Given the description of an element on the screen output the (x, y) to click on. 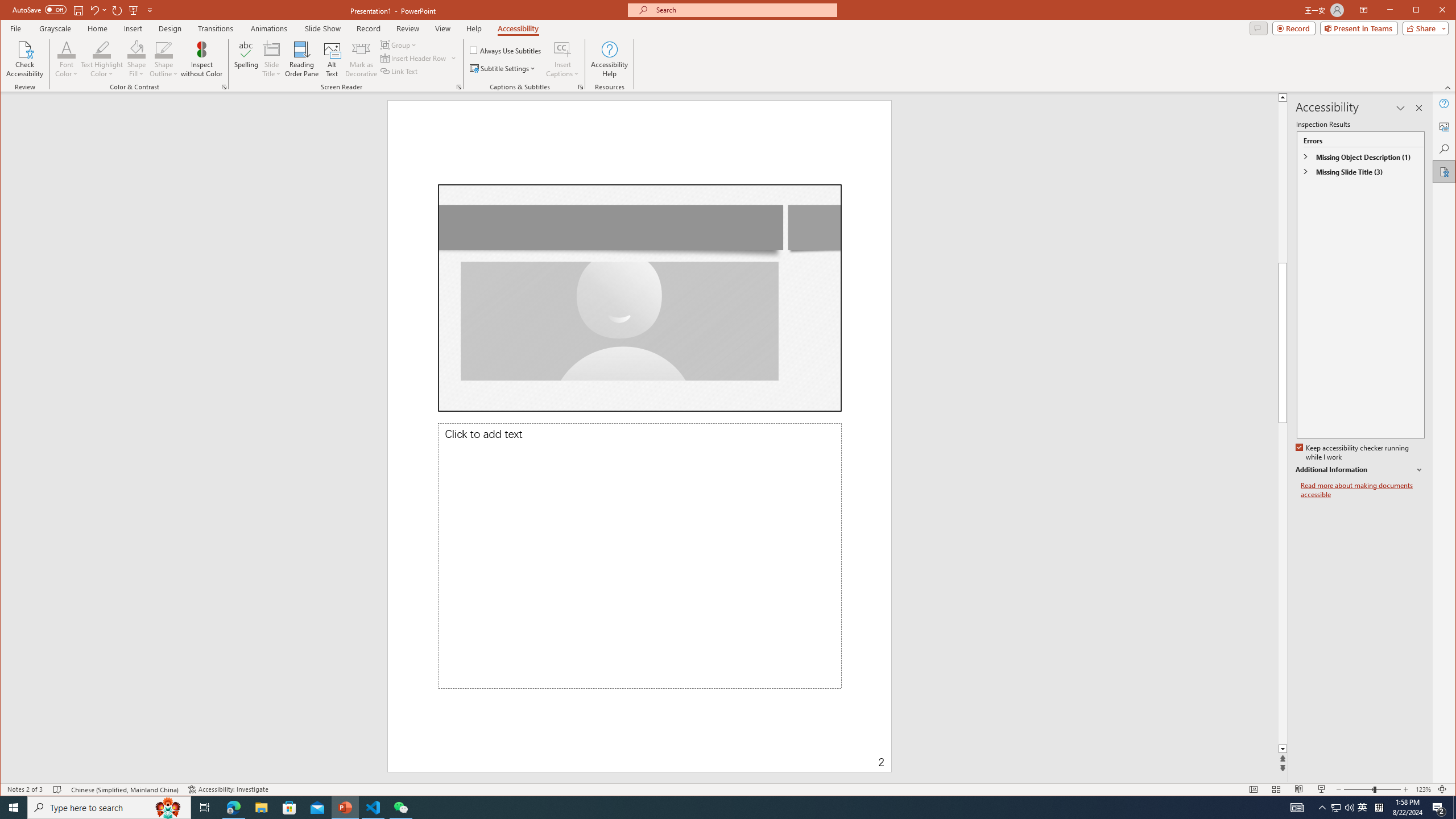
Shape Fill Orange, Accent 2 (136, 48)
Class: MsoCommandBar (728, 789)
Group (399, 44)
Color & Contrast (223, 86)
Alt Text (1444, 125)
Font Color (66, 48)
Shape Outline Blue, Accent 1 (163, 48)
Slide Notes (639, 555)
Slide (639, 297)
Microsoft search (742, 10)
Page down (1427, 583)
